Given the description of an element on the screen output the (x, y) to click on. 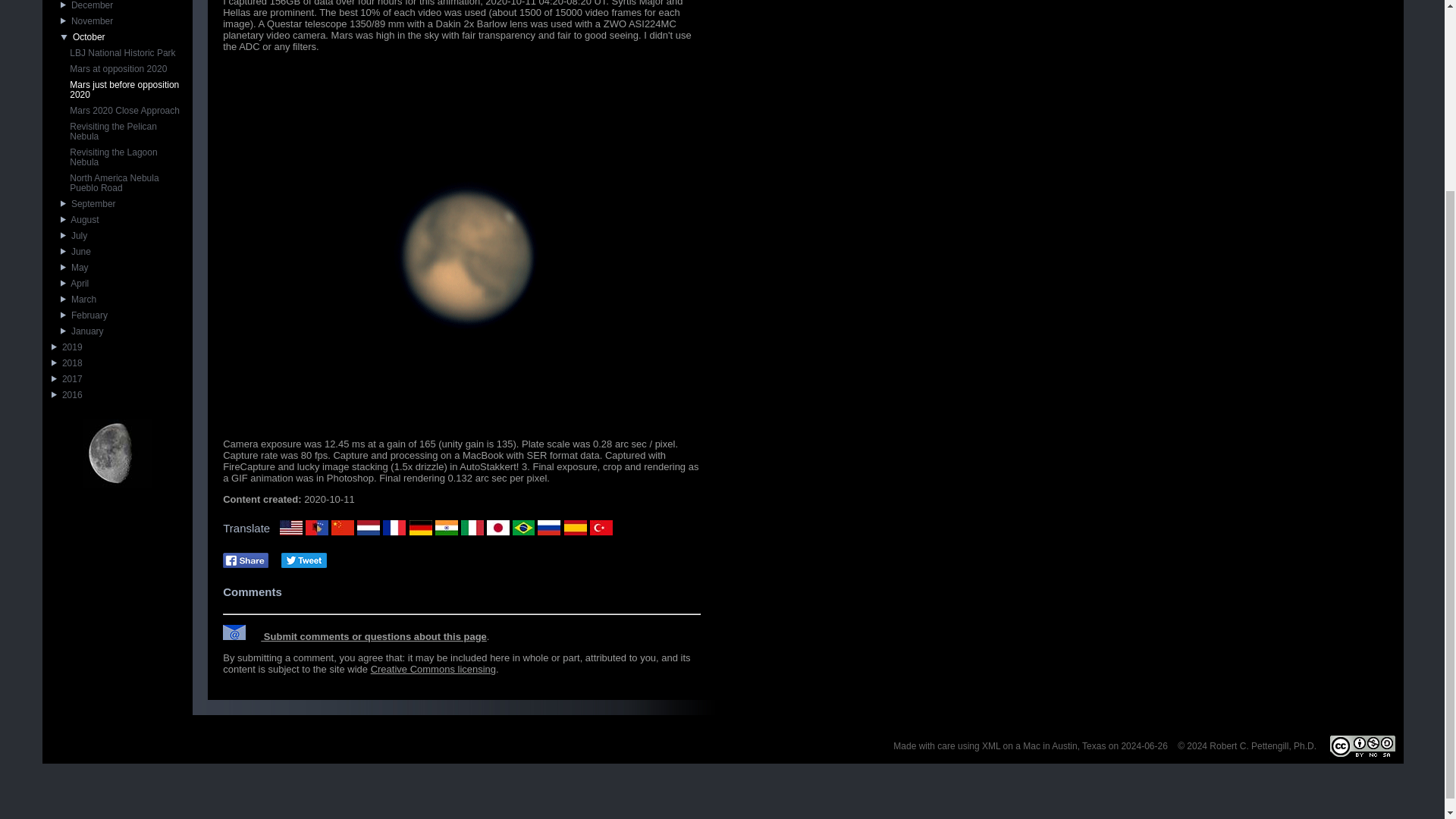
automatic Hindi translation (446, 527)
automatic Spanish translation (575, 527)
automatic Dutch translation (368, 527)
automatic Portuguese translation (523, 527)
Moon's Phase Today (116, 453)
Share on Facebook (244, 560)
automatic Italian translation (472, 527)
automatic Albanian translation (317, 527)
automatic Japanese translation (497, 527)
original American English (290, 527)
Tweet on Twitter (303, 560)
automatic Russian translation (548, 527)
automatic Turkish translation (600, 527)
automatic Chinese translation (342, 527)
